Given the description of an element on the screen output the (x, y) to click on. 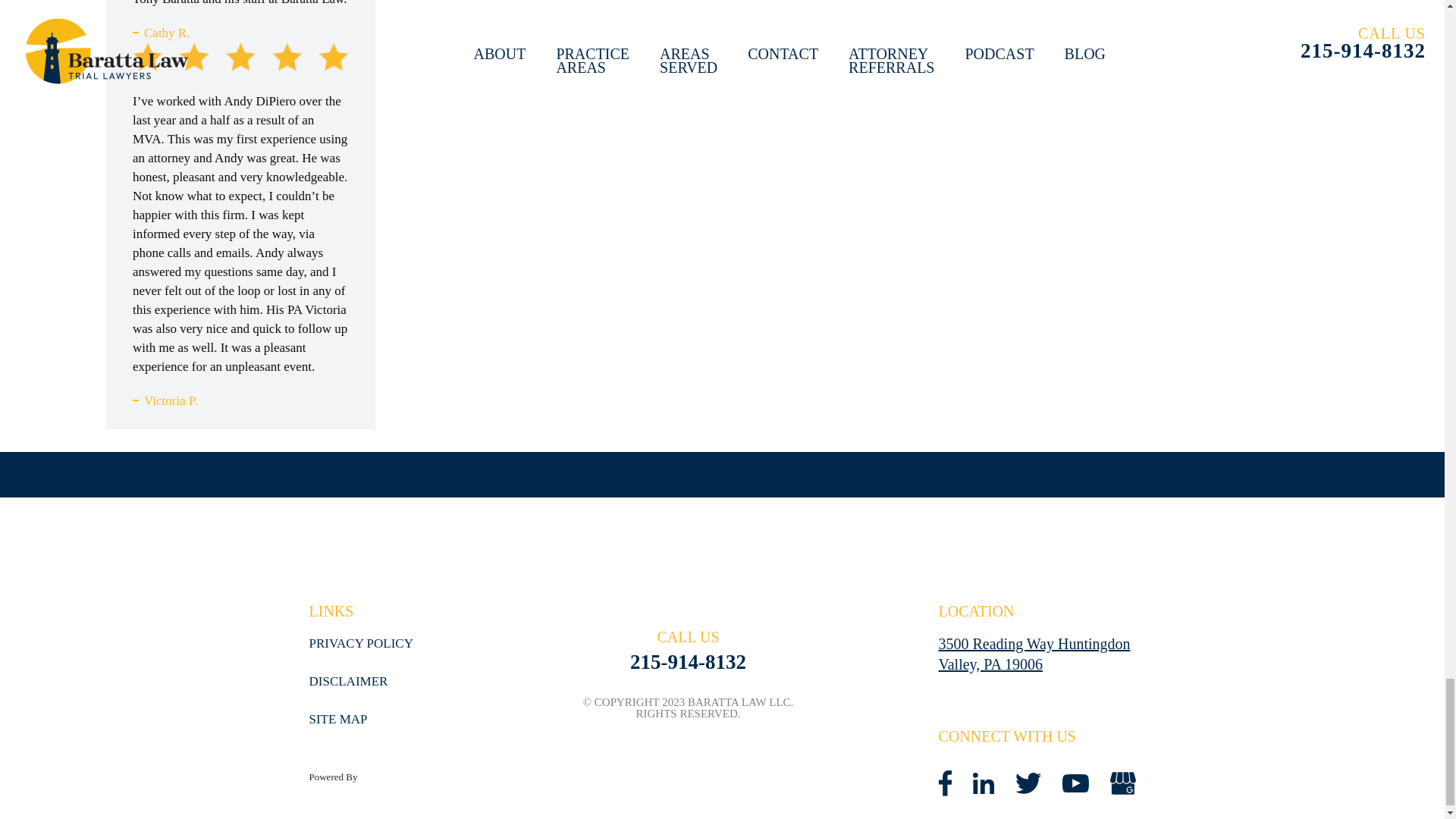
Created by potrace 1.16, written by Peter Selinger 2001-2019 (1122, 783)
